Given the description of an element on the screen output the (x, y) to click on. 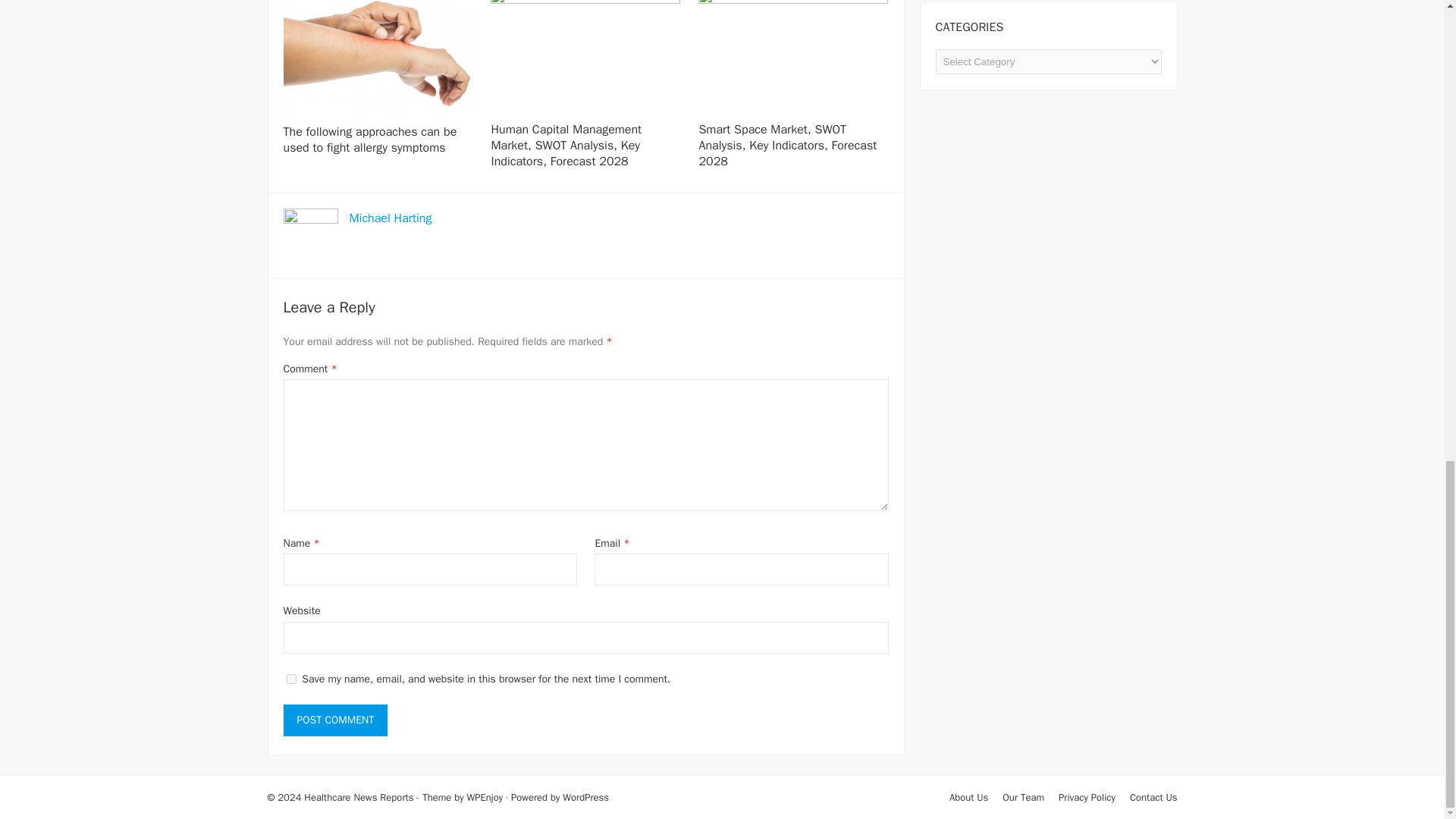
Michael Harting (389, 218)
yes (291, 678)
Post Comment (335, 720)
